Given the description of an element on the screen output the (x, y) to click on. 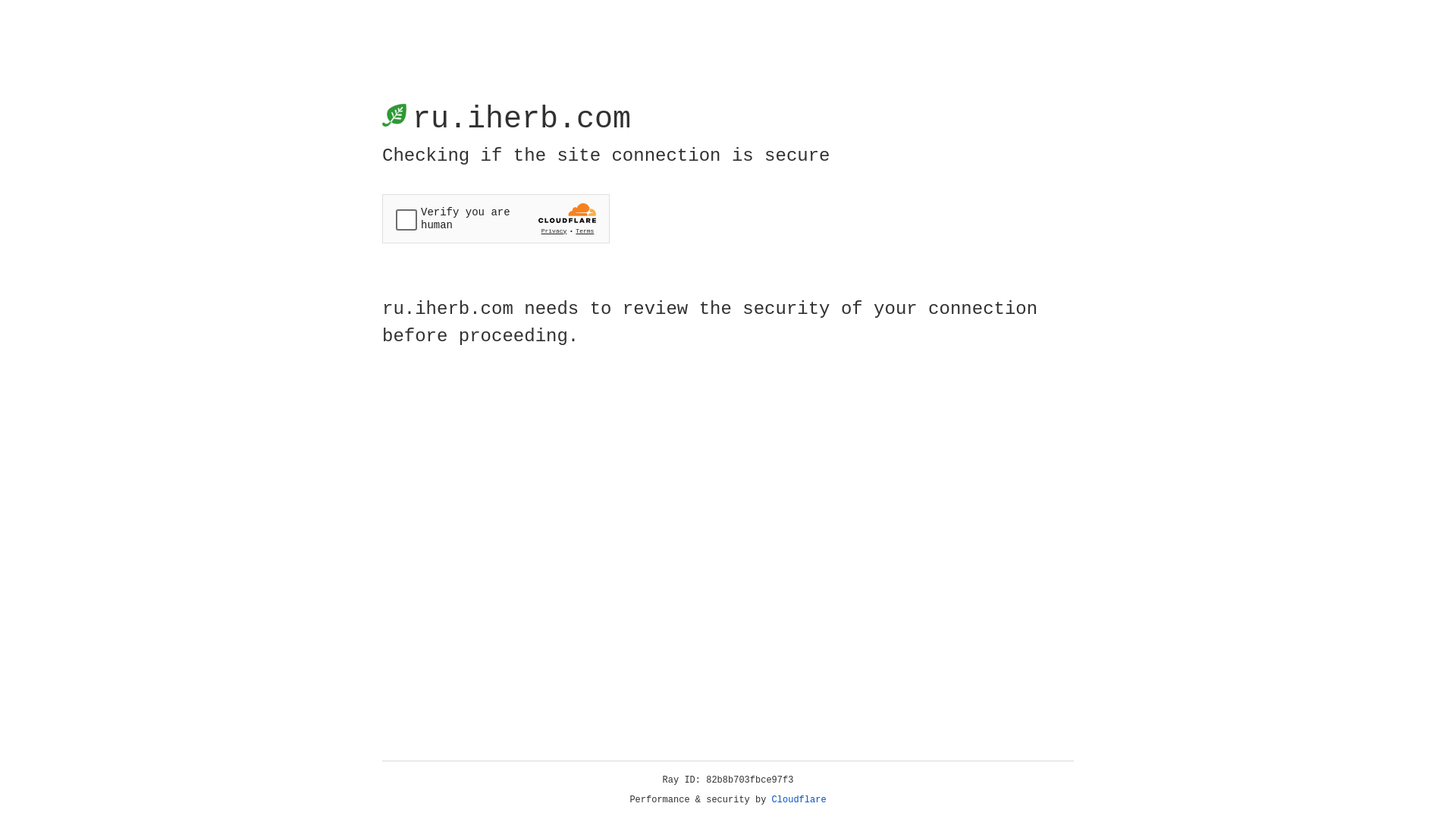
Widget containing a Cloudflare security challenge Element type: hover (495, 218)
Cloudflare Element type: text (798, 799)
